Given the description of an element on the screen output the (x, y) to click on. 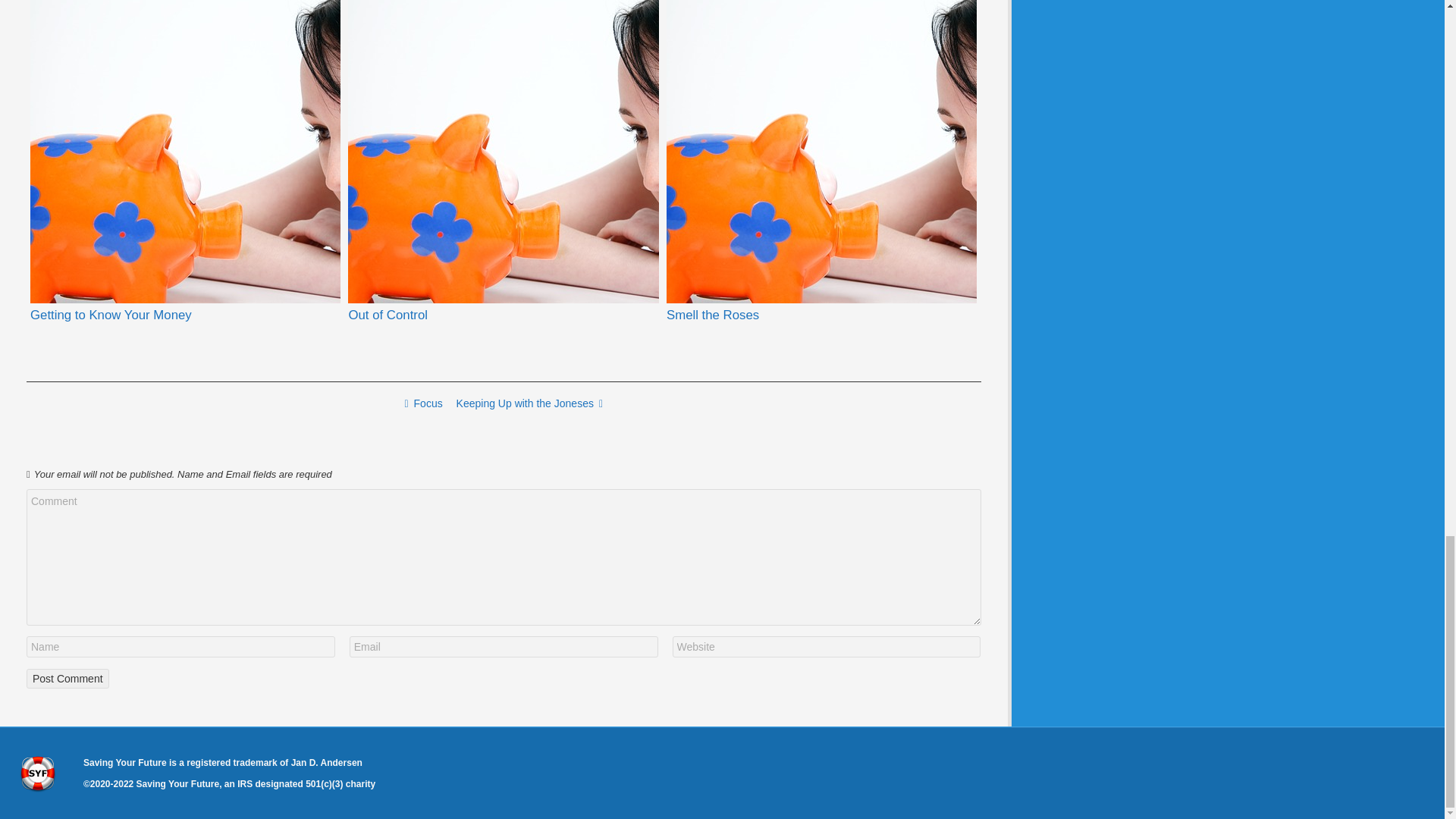
Smell the Roses (712, 314)
Smell the Roses (821, 151)
Out of Control (502, 151)
Post Comment (67, 678)
Keeping Up with the Joneses (529, 403)
Getting to Know Your Money (111, 314)
Smell the Roses (712, 314)
Focus (423, 403)
Out of Control (386, 314)
Getting to Know Your Money (185, 151)
Getting to Know Your Money (111, 314)
Out of Control (386, 314)
Post Comment (67, 678)
